Given the description of an element on the screen output the (x, y) to click on. 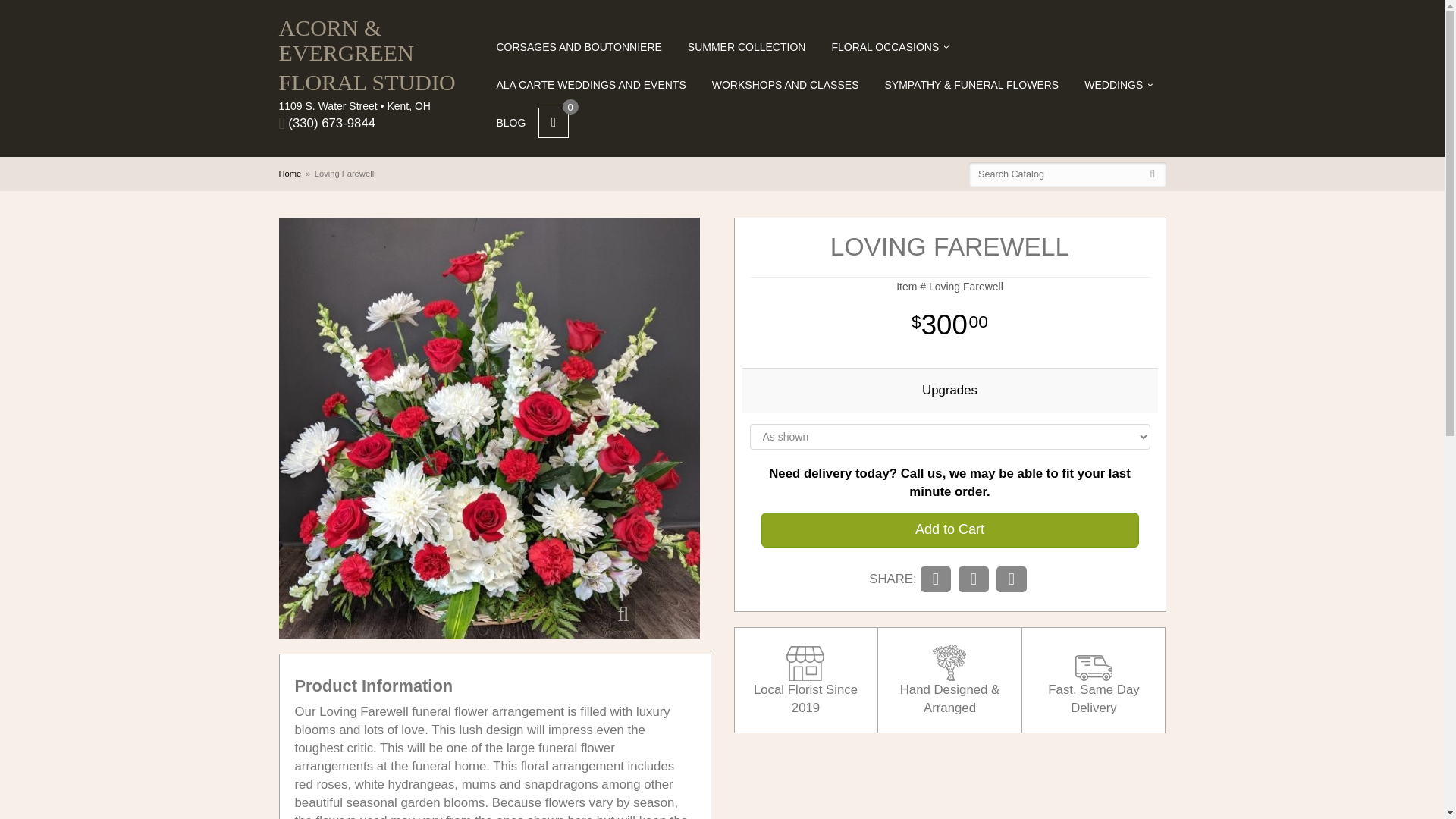
BLOG (510, 122)
SUMMER COLLECTION (746, 46)
FLORAL OCCASIONS (889, 46)
ALA CARTE WEDDINGS AND EVENTS (590, 85)
Add to Cart (949, 529)
WORKSHOPS AND CLASSES (785, 85)
CORSAGES AND BOUTONNIERE (579, 46)
WEDDINGS (1118, 85)
0 (553, 122)
Home (290, 173)
